Given the description of an element on the screen output the (x, y) to click on. 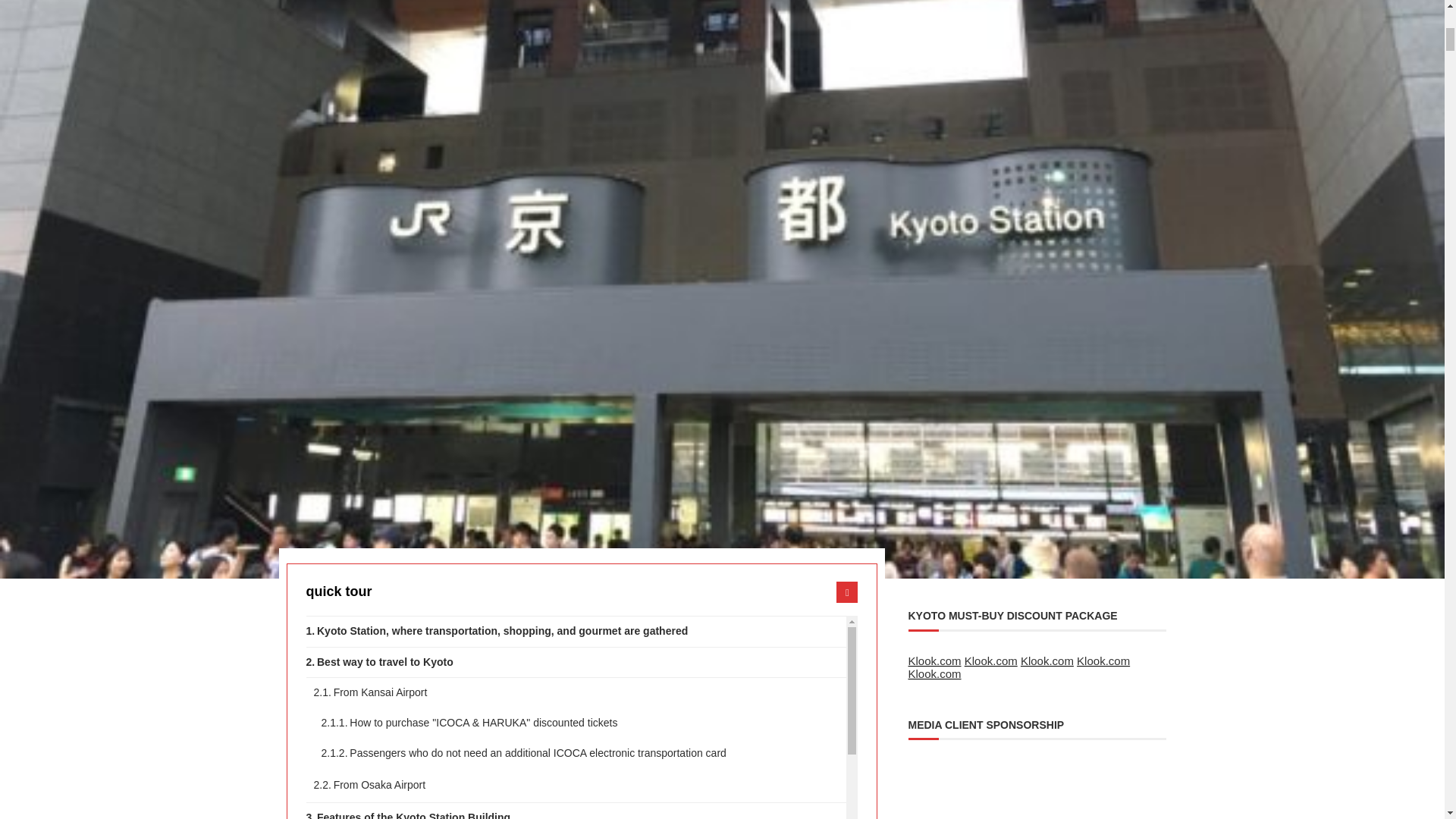
Features of the Kyoto Station Building (576, 811)
From Kansai Airport (580, 693)
From Osaka Airport (580, 785)
Best way to travel to Kyoto (576, 662)
